Given the description of an element on the screen output the (x, y) to click on. 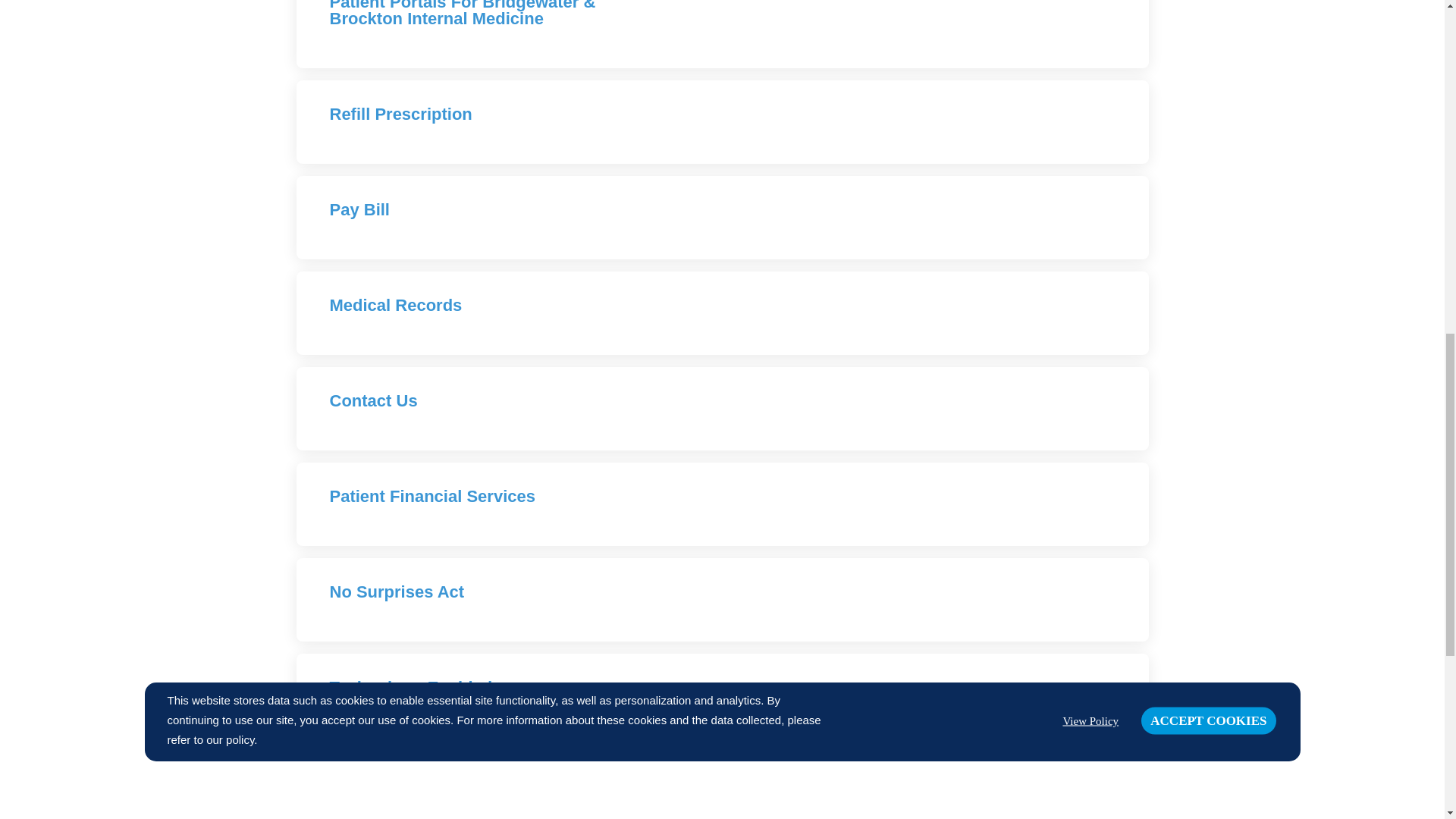
Technology-Enabled (410, 687)
Pay Bill (358, 209)
Medical Records (395, 304)
No Surprises Act (396, 591)
Refill Prescription (400, 113)
Patient Financial Services (431, 496)
Contact Us (372, 400)
